Given the description of an element on the screen output the (x, y) to click on. 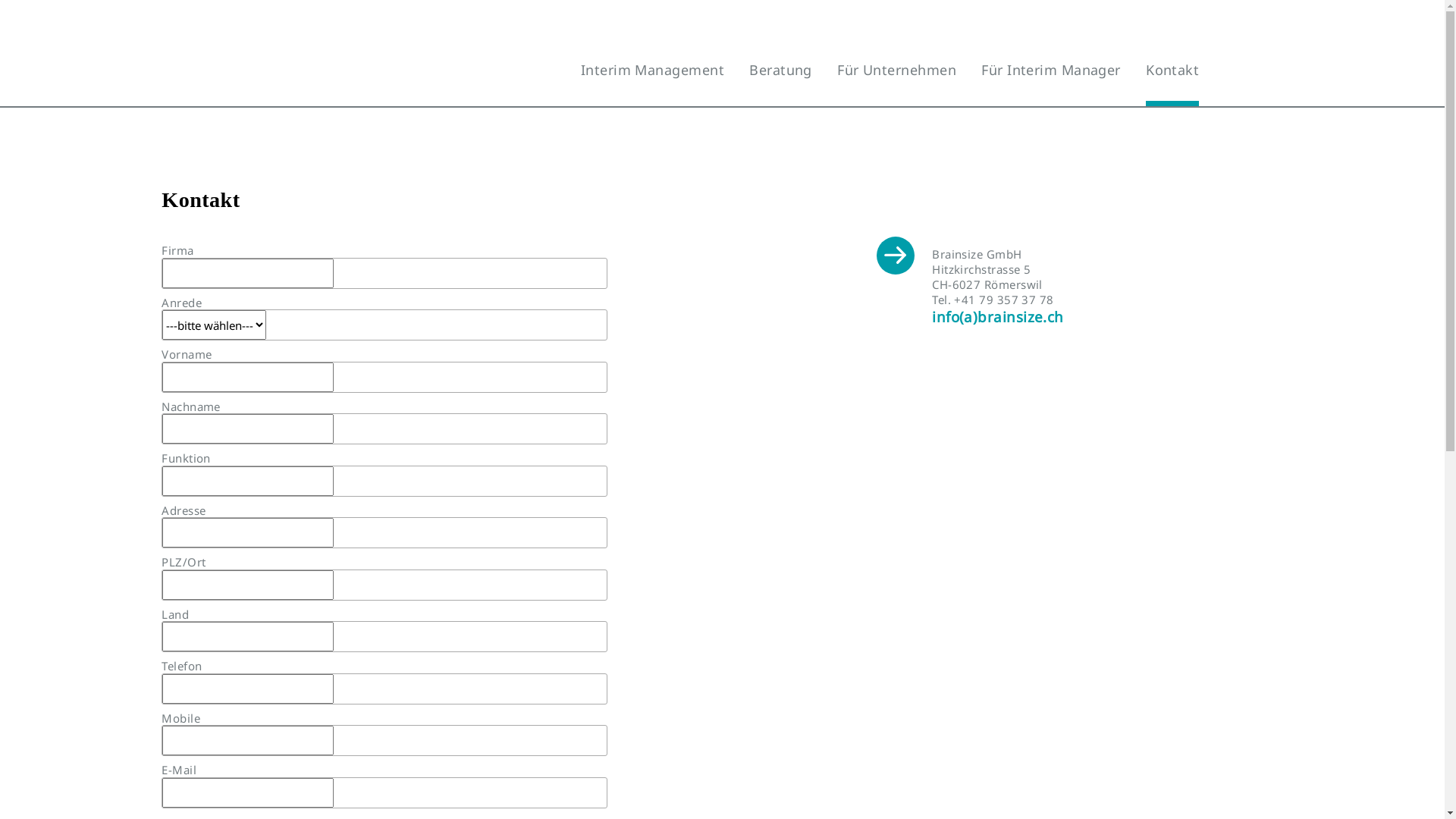
Beratung Element type: text (780, 69)
Interim Management Element type: text (652, 69)
Kontakt Element type: text (1171, 83)
info(a)brainsize.ch Element type: text (997, 316)
